Given the description of an element on the screen output the (x, y) to click on. 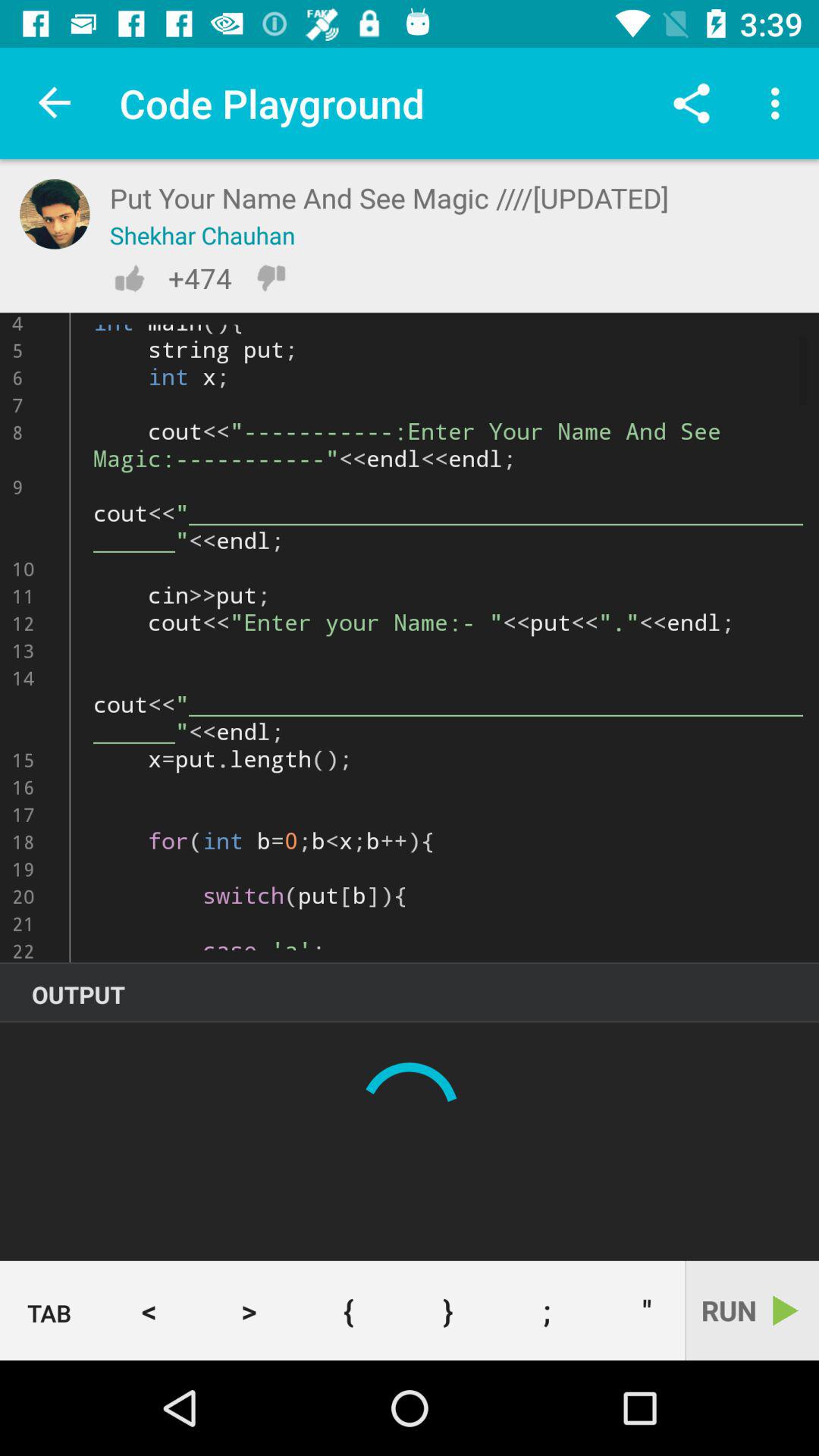
like page (129, 277)
